Given the description of an element on the screen output the (x, y) to click on. 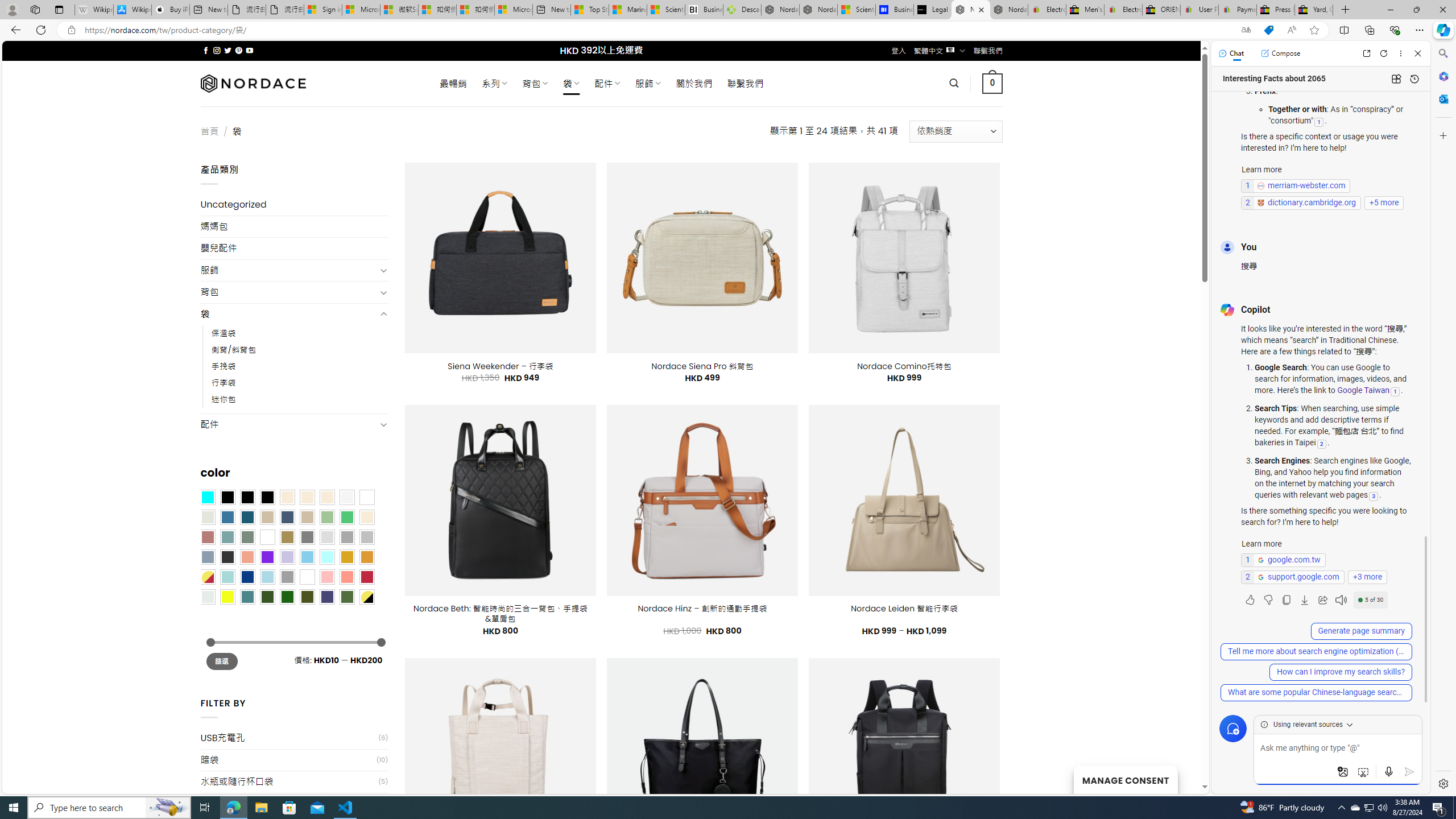
Follow on Instagram (216, 50)
Follow on Facebook (205, 50)
Chat (1231, 52)
Follow on YouTube (249, 50)
